Given the description of an element on the screen output the (x, y) to click on. 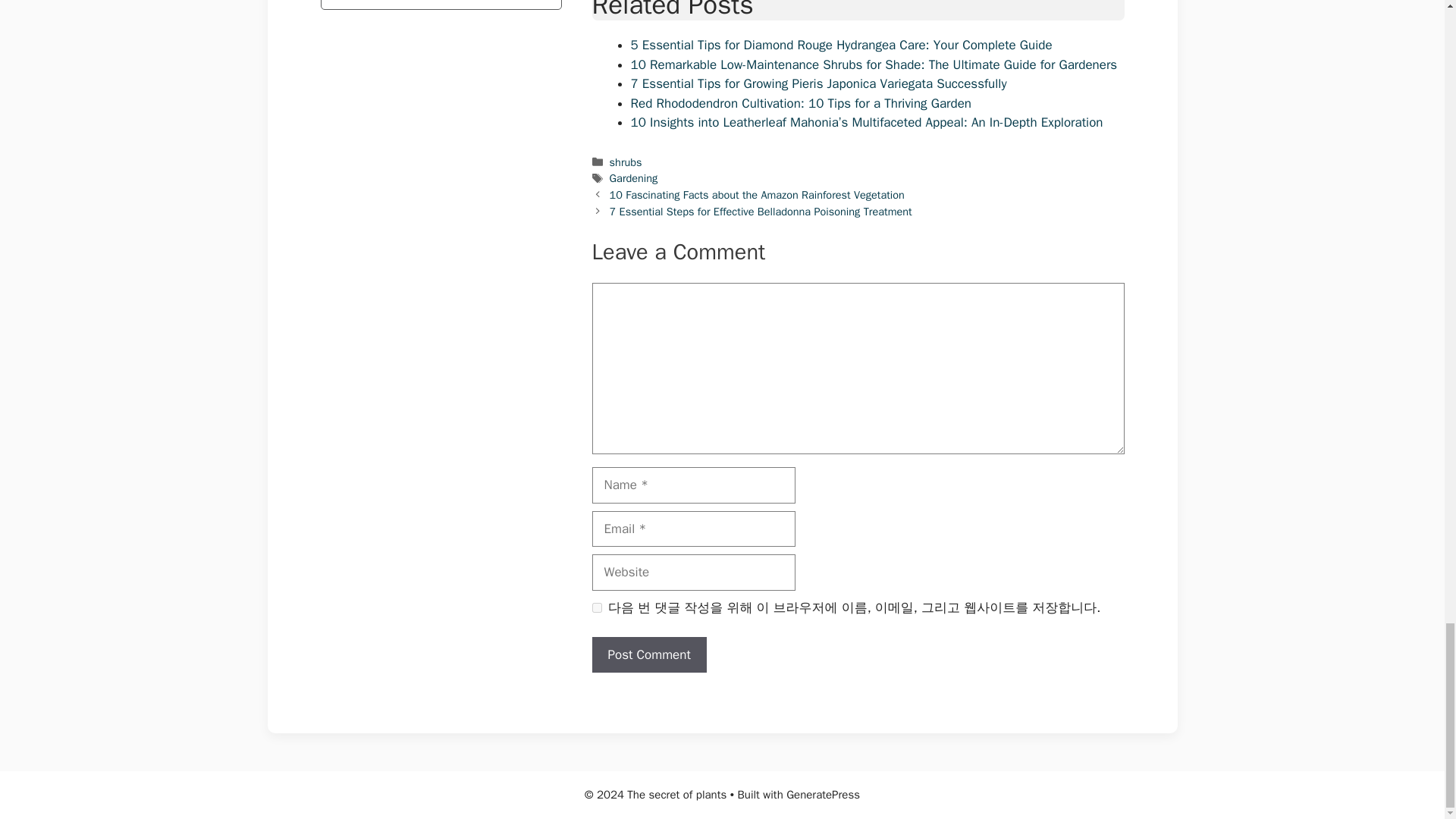
Post Comment (648, 655)
yes (596, 607)
Post Comment (648, 655)
Red Rhododendron Cultivation: 10 Tips for a Thriving Garden (801, 103)
shrubs (626, 161)
10 Fascinating Facts about the Amazon Rainforest Vegetation (757, 194)
Gardening (634, 178)
